Given the description of an element on the screen output the (x, y) to click on. 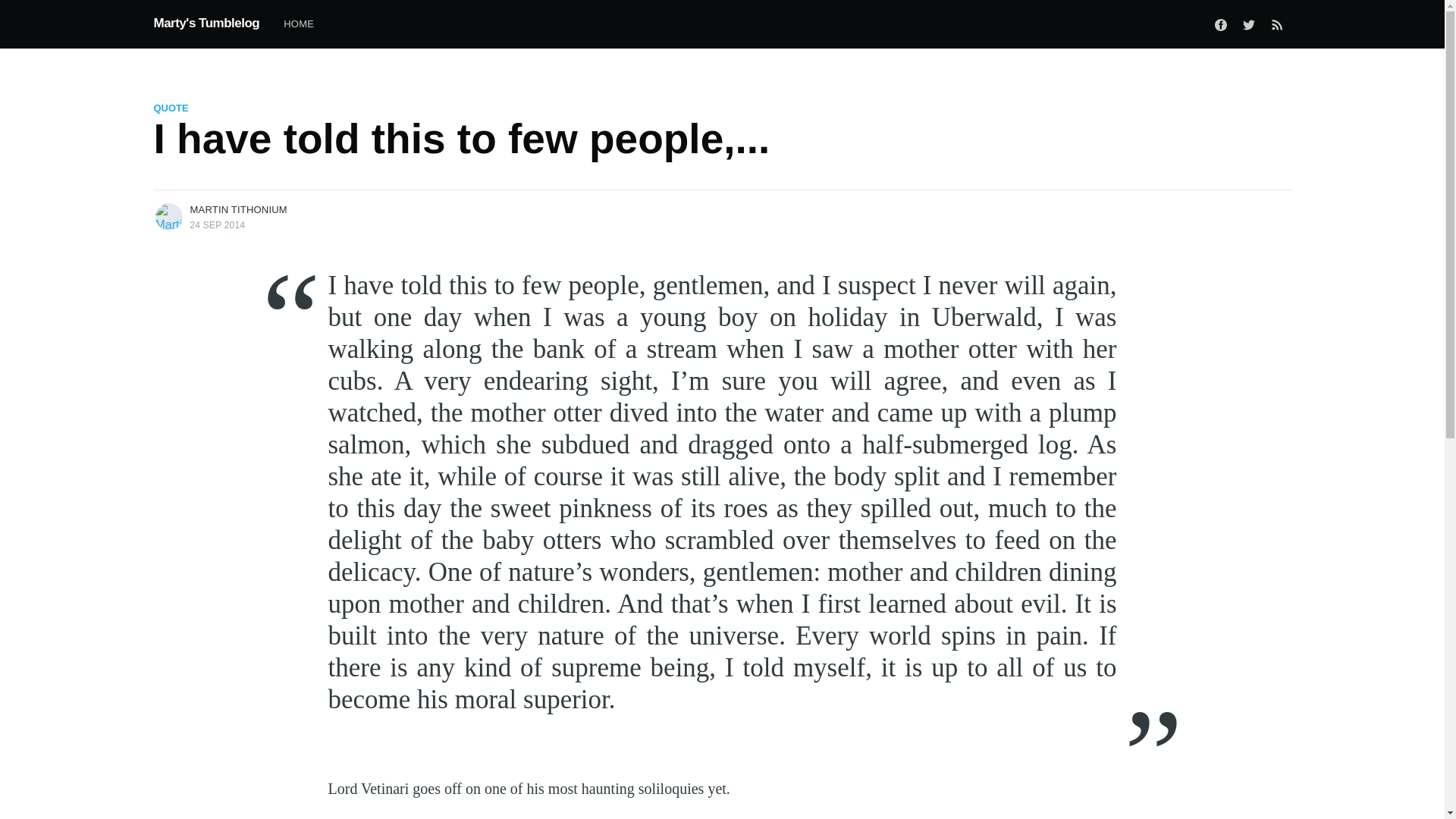
HOME (299, 24)
QUOTE (169, 108)
Marty's Tumblelog (205, 23)
MARTIN TITHONIUM (237, 209)
